Given the description of an element on the screen output the (x, y) to click on. 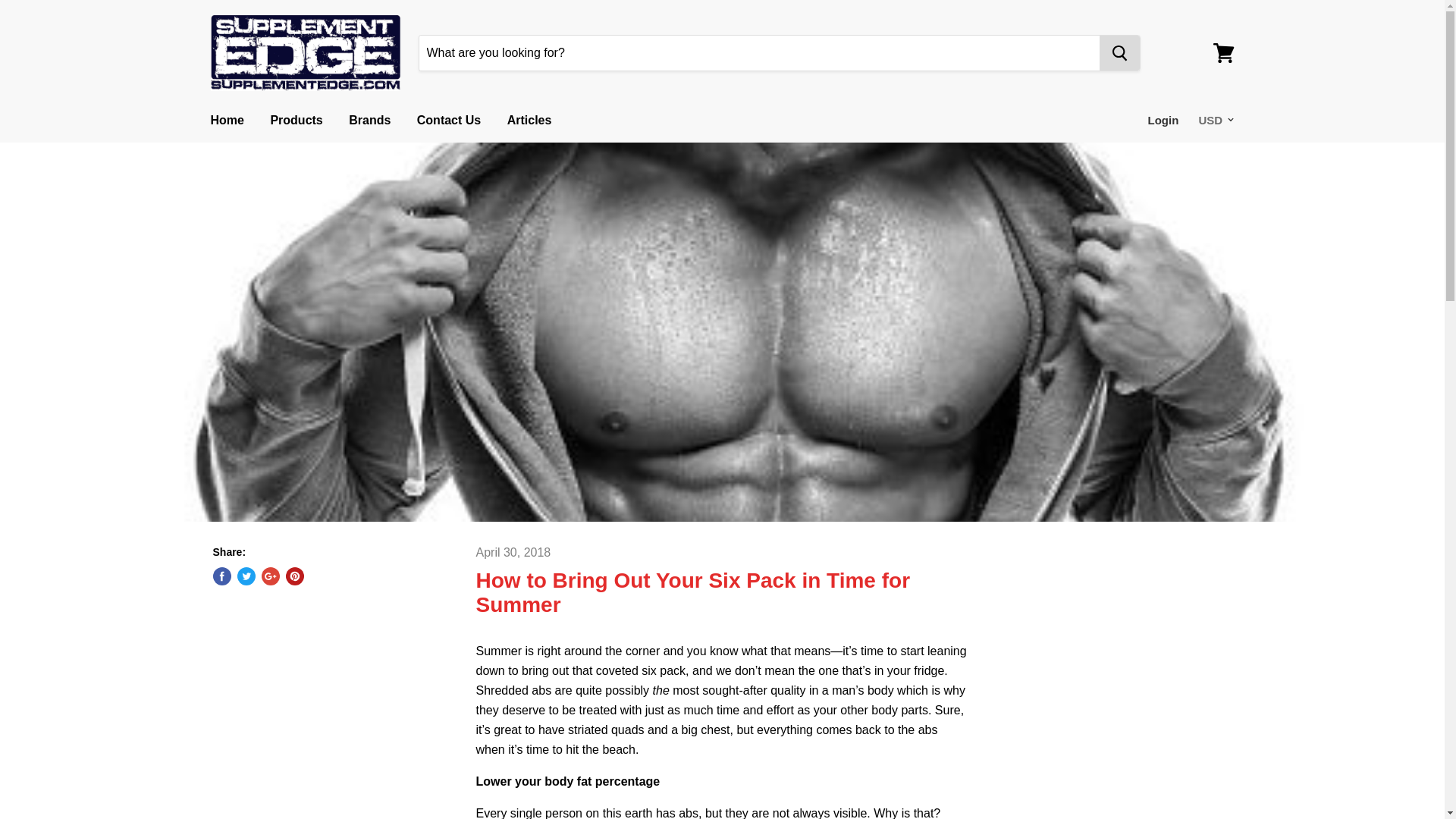
Pin on Pinterest (293, 576)
View cart (1223, 53)
Brands (369, 120)
Products (296, 120)
Share on Facebook (221, 576)
Tweet on Twitter (244, 576)
Contact Us (449, 120)
Articles (529, 120)
Home (226, 120)
Login (1163, 120)
